Given the description of an element on the screen output the (x, y) to click on. 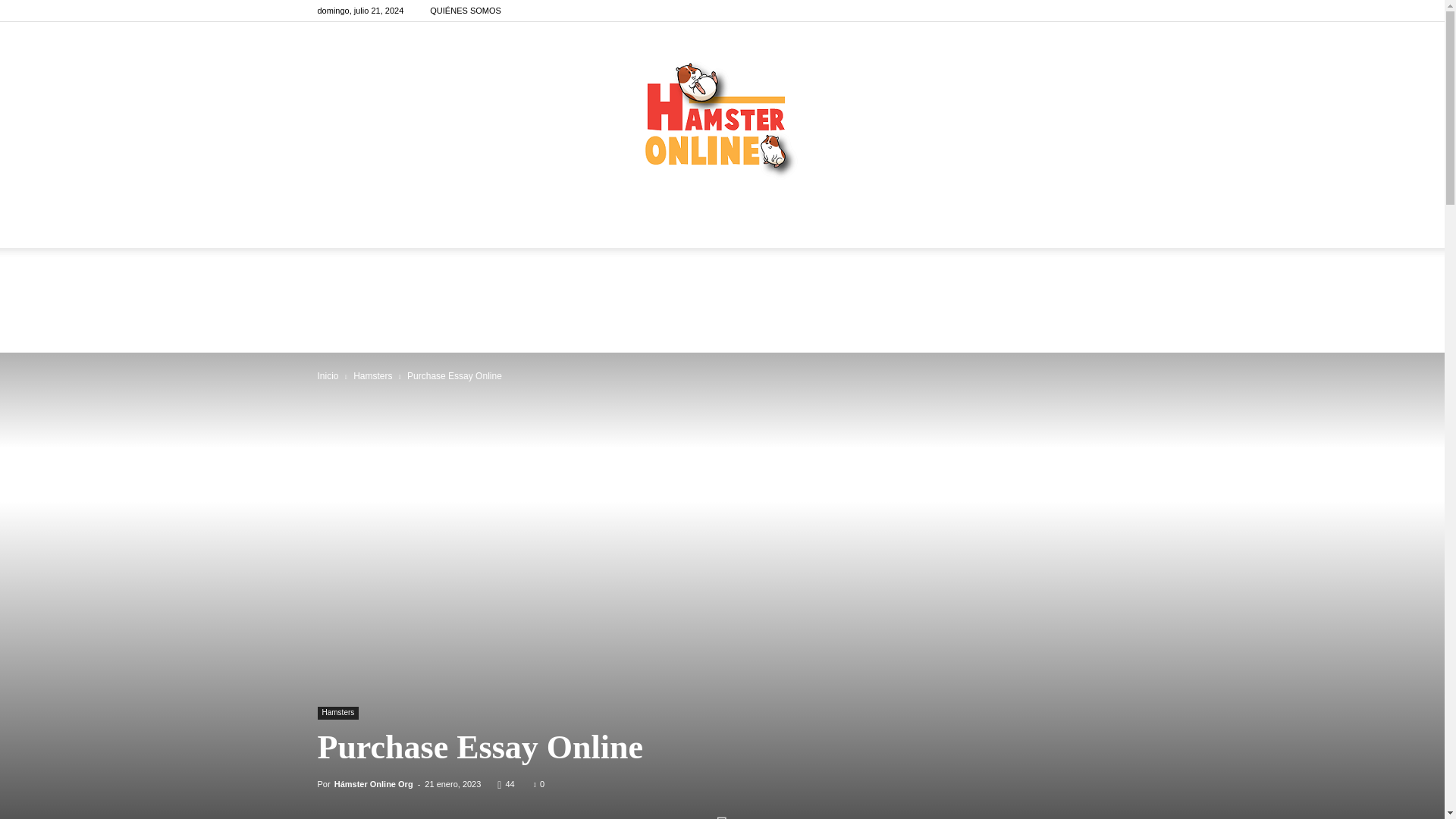
Instagram (1090, 10)
Youtube (1114, 10)
Facebook (1065, 10)
